Given the description of an element on the screen output the (x, y) to click on. 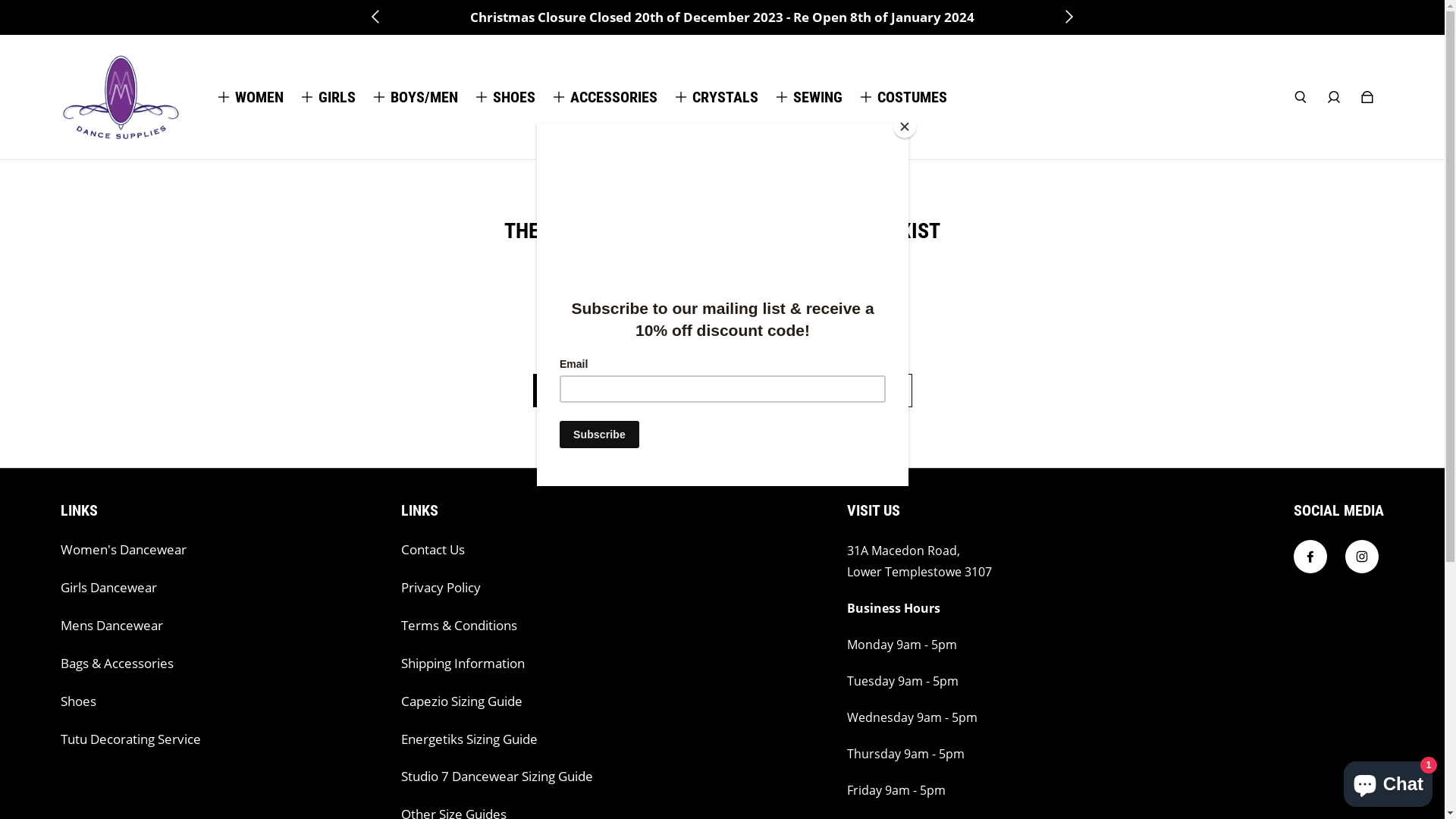
Terms & Conditions Element type: text (459, 625)
Women's Dancewear Element type: text (123, 549)
Mens Dancewear Element type: text (111, 625)
Shoes Element type: text (78, 701)
CRYSTALS Element type: text (725, 96)
Contact Us Element type: text (432, 549)
SEARCH Element type: text (617, 390)
GIRLS Element type: text (336, 96)
SEWING Element type: text (817, 96)
Energetiks Sizing Guide Element type: text (469, 739)
Shopify online store chat Element type: hover (1388, 780)
Shipping Information Element type: text (462, 663)
COSTUMES Element type: text (912, 96)
Girls Dancewear Element type: text (108, 587)
BOYS/MEN Element type: text (424, 96)
Bags & Accessories Element type: text (116, 663)
Tutu Decorating Service Element type: text (130, 739)
Capezio Sizing Guide Element type: text (461, 701)
SHOES Element type: text (513, 96)
RETURN TO SHOP Element type: text (816, 390)
Studio 7 Dancewear Sizing Guide Element type: text (497, 776)
Privacy Policy Element type: text (440, 587)
WOMEN Element type: text (259, 96)
ACCESSORIES Element type: text (613, 96)
